Given the description of an element on the screen output the (x, y) to click on. 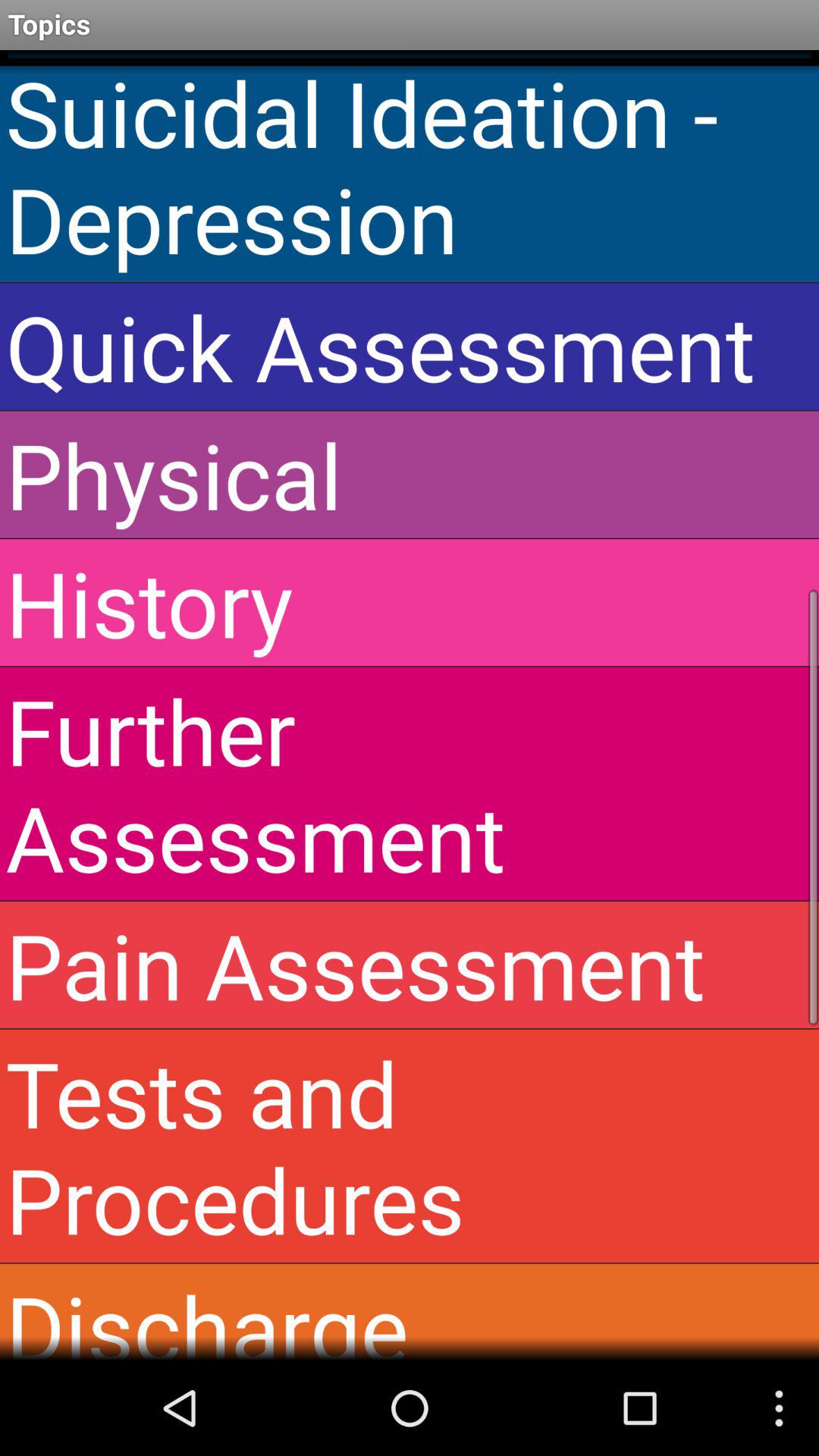
choose the item above the history app (409, 474)
